Given the description of an element on the screen output the (x, y) to click on. 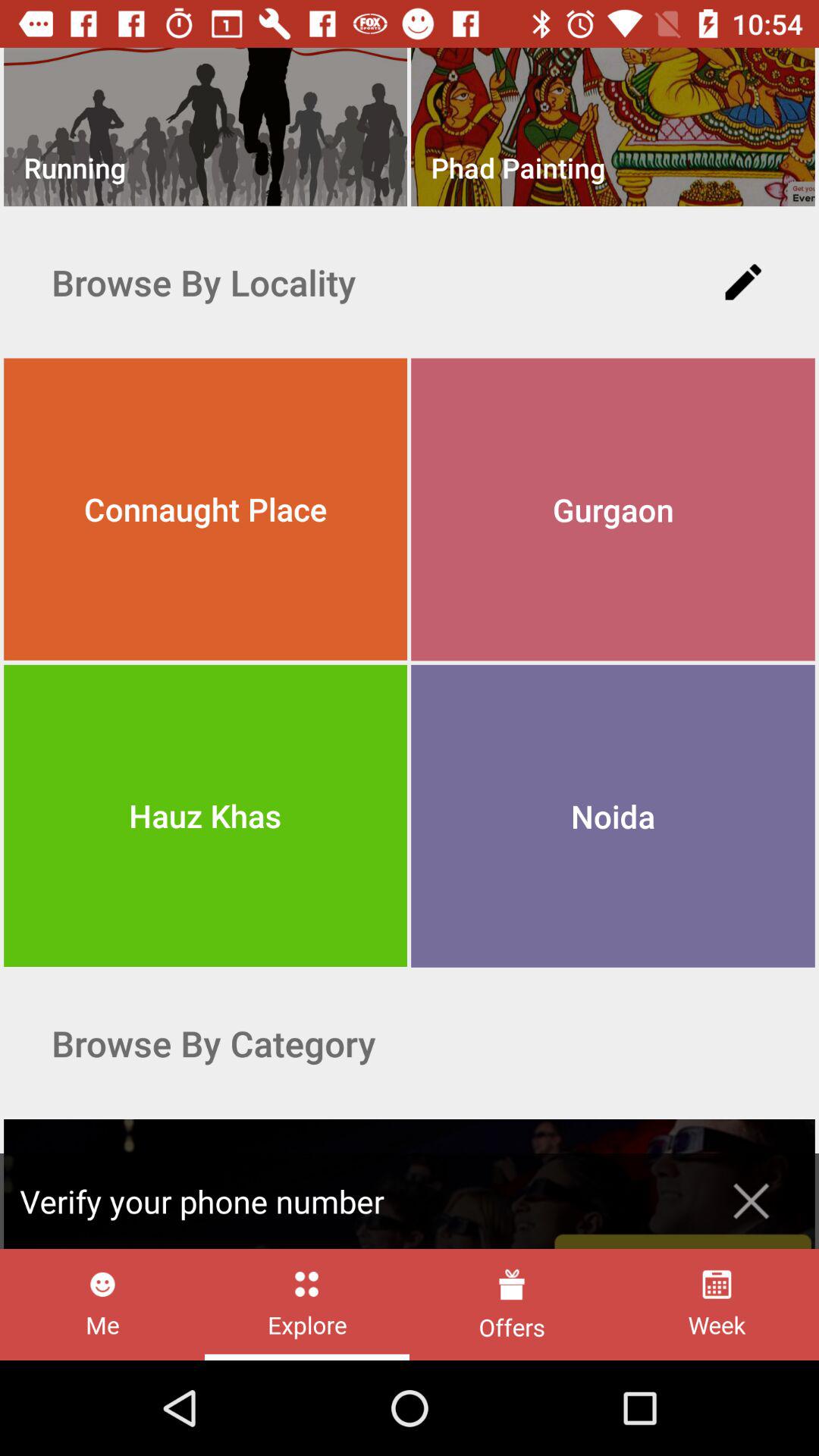
open icon next to explore icon (101, 1304)
